Given the description of an element on the screen output the (x, y) to click on. 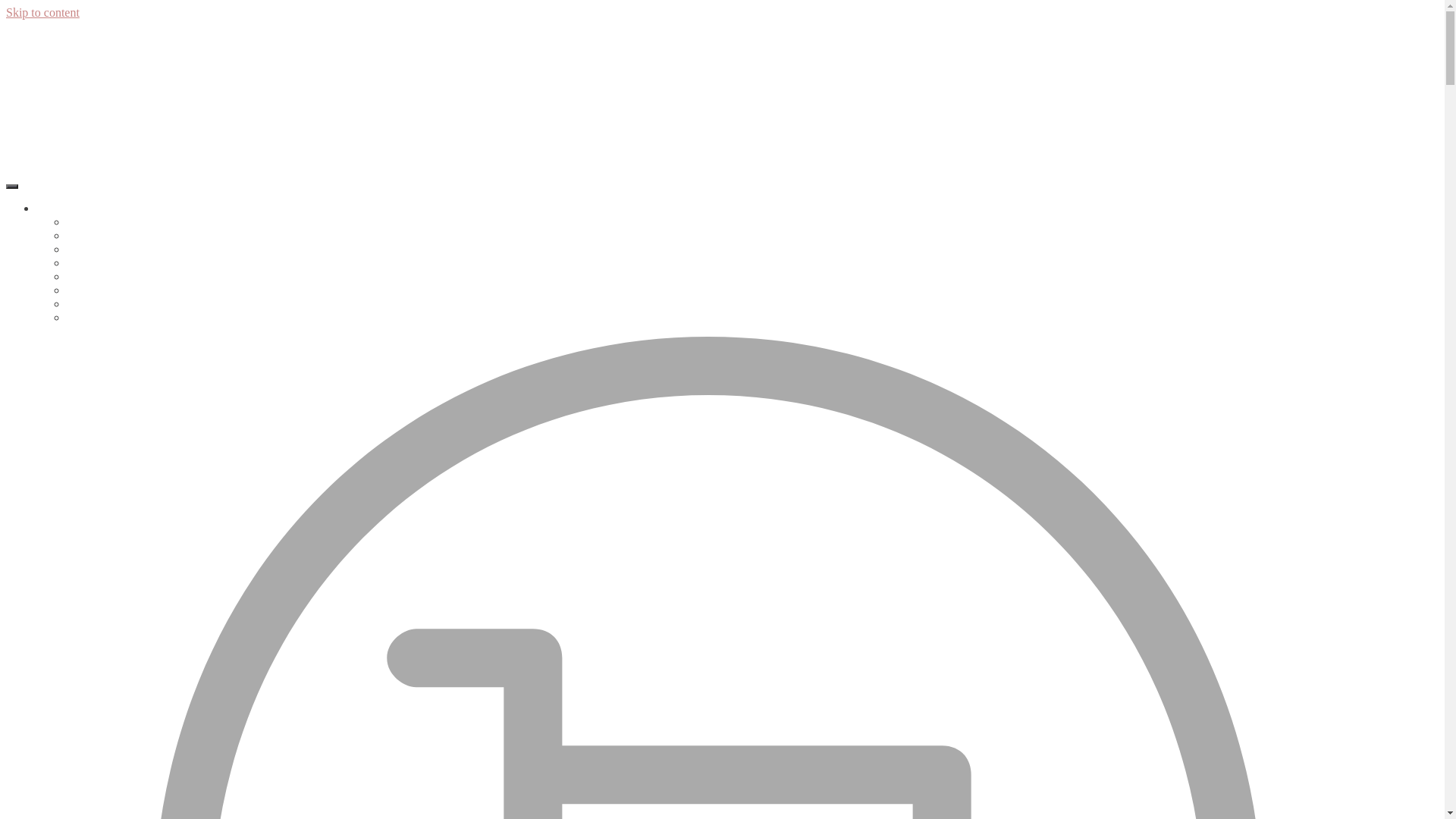
Kalgoorlie Element type: text (31, 139)
Kalgoorlie Element type: text (92, 221)
Joondalup Element type: text (91, 262)
Joondalup Element type: text (31, 118)
Albany Element type: text (23, 33)
Malaga Element type: text (84, 248)
Locations Element type: text (60, 207)
Midland Element type: text (86, 235)
Ellenbrook Element type: text (32, 75)
Geraldton Element type: text (30, 97)
Geraldton Element type: text (90, 275)
Bunbury Element type: text (87, 303)
Midland Element type: text (26, 160)
Skip to content Element type: text (42, 12)
Albany Element type: text (84, 316)
Ellenbrook Element type: text (93, 289)
Bunbury Element type: text (27, 54)
